Given the description of an element on the screen output the (x, y) to click on. 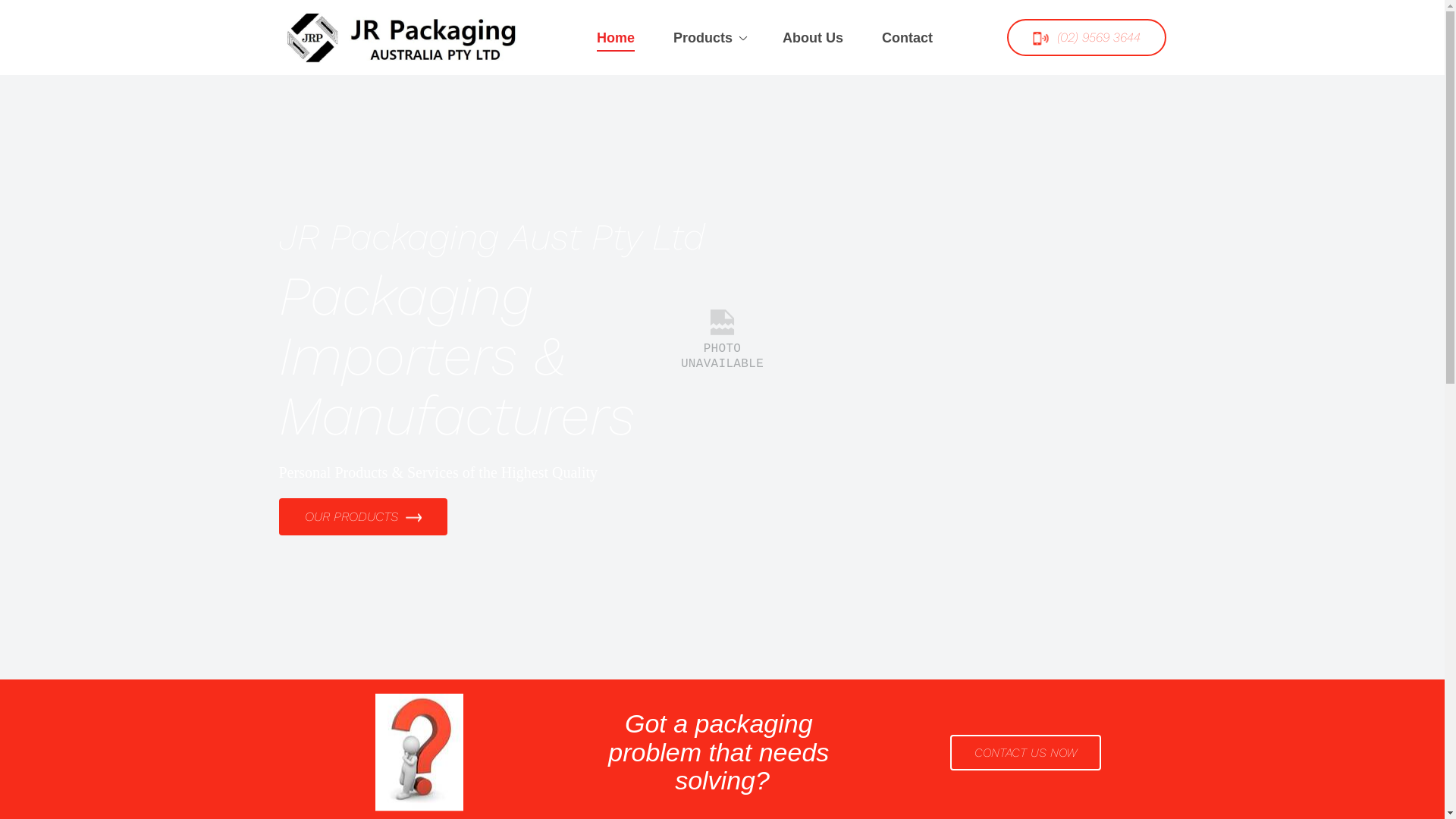
OUR PRODUCTS Element type: text (363, 516)
(02) 9569 3644 Element type: text (1086, 37)
Home Element type: text (615, 37)
Products Element type: text (708, 37)
CONTACT US NOW Element type: text (1025, 752)
Contact Element type: text (907, 37)
About Us Element type: text (813, 37)
